Given the description of an element on the screen output the (x, y) to click on. 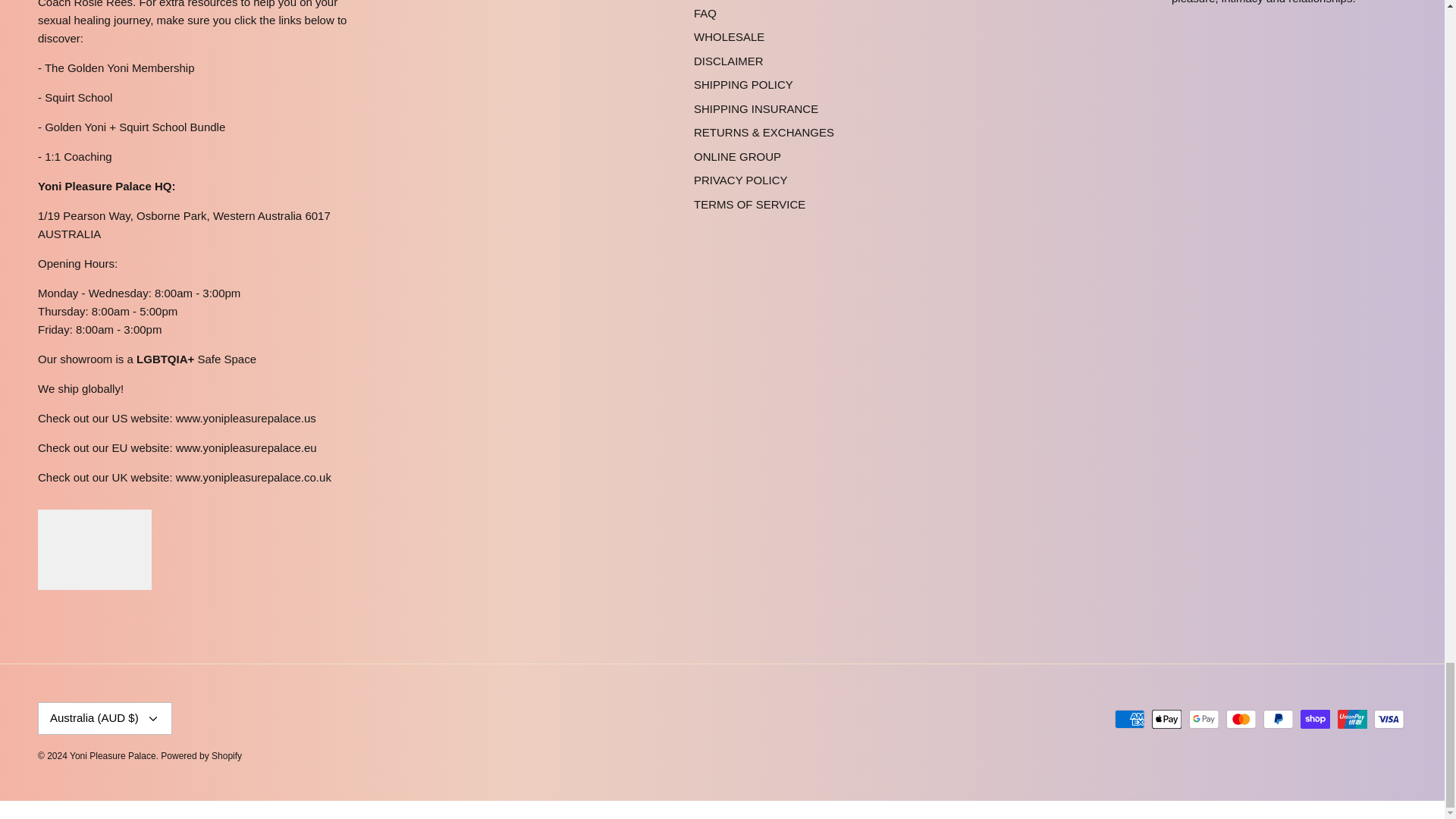
Union Pay (1352, 719)
Visa (1388, 719)
PayPal (1277, 719)
Down (153, 718)
Mastercard (1240, 719)
American Express (1129, 719)
Google Pay (1203, 719)
Shop Pay (1315, 719)
Apple Pay (1166, 719)
